Given the description of an element on the screen output the (x, y) to click on. 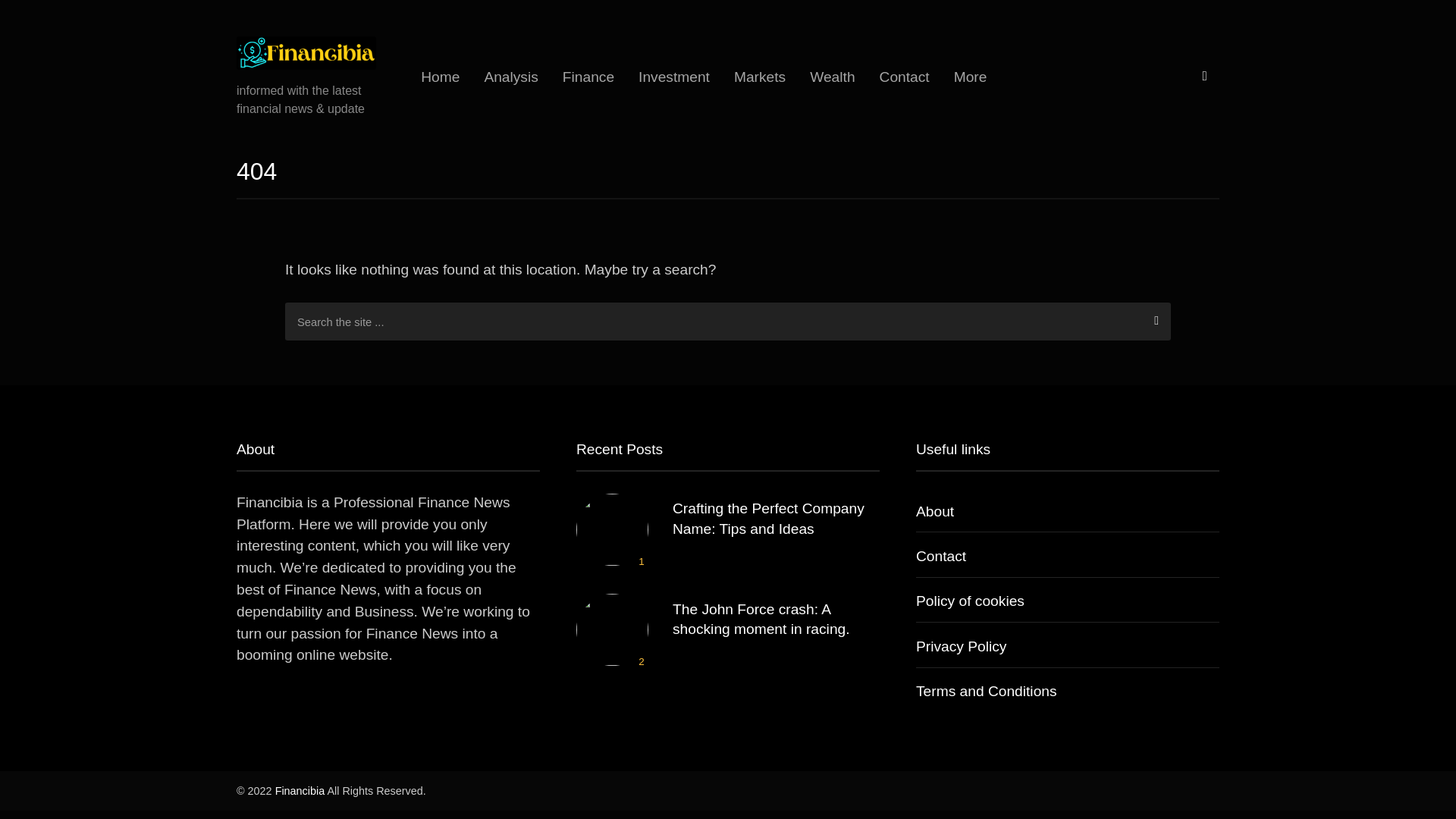
1 (611, 529)
Investment (674, 77)
The John Force crash: A shocking moment in racing. (761, 618)
Policy of cookies (970, 600)
Analysis (510, 77)
Financibia (299, 790)
Home (440, 77)
Crafting the Perfect Company Name: Tips and Ideas (768, 518)
Finance (588, 77)
Contact (940, 555)
